Given the description of an element on the screen output the (x, y) to click on. 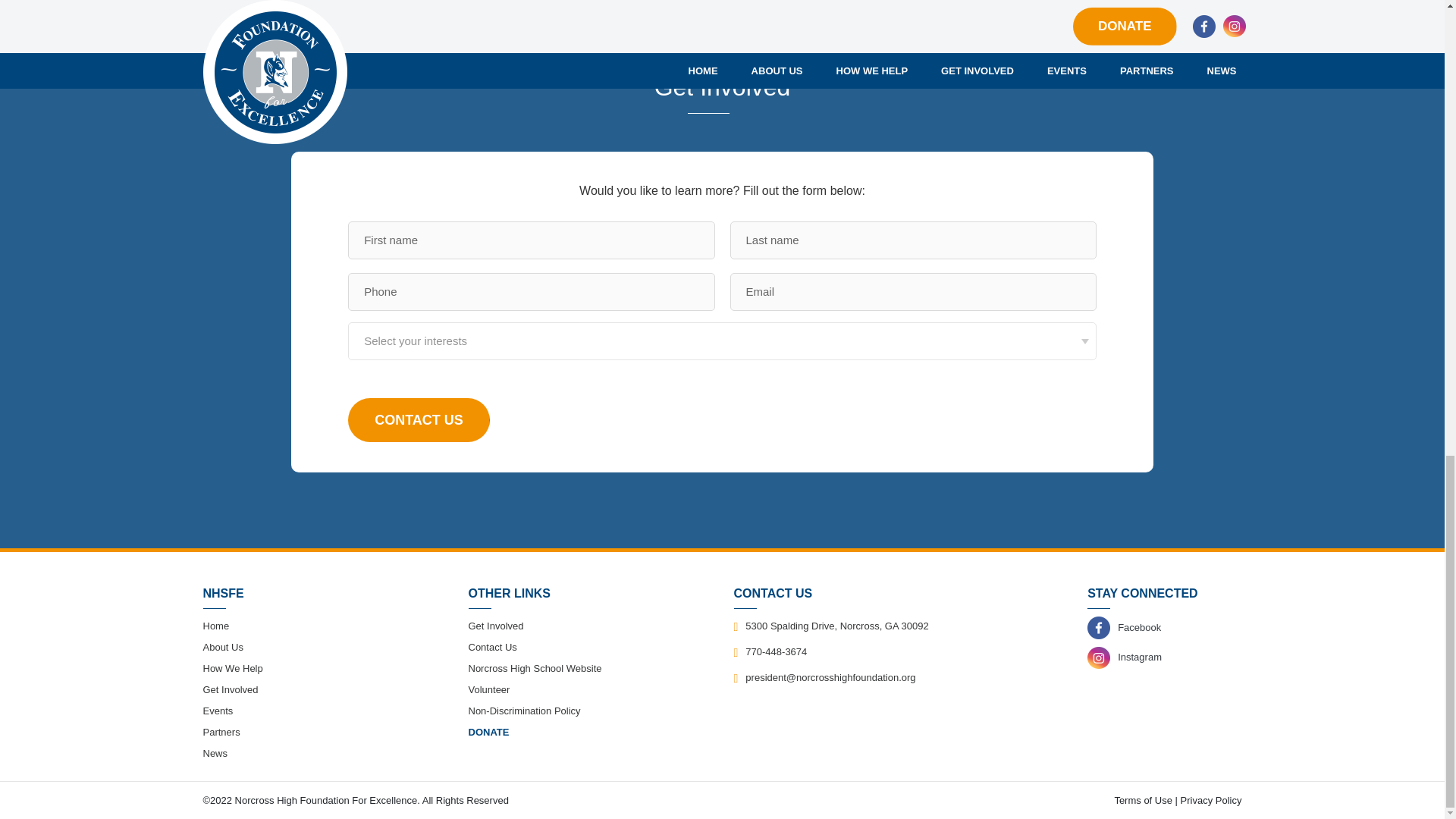
Events (217, 710)
Home (216, 625)
Get Involved (231, 689)
About Us (223, 646)
How We Help (233, 668)
News (215, 753)
Partners (221, 731)
Contact Us (418, 420)
Contact Us (418, 420)
